Given the description of an element on the screen output the (x, y) to click on. 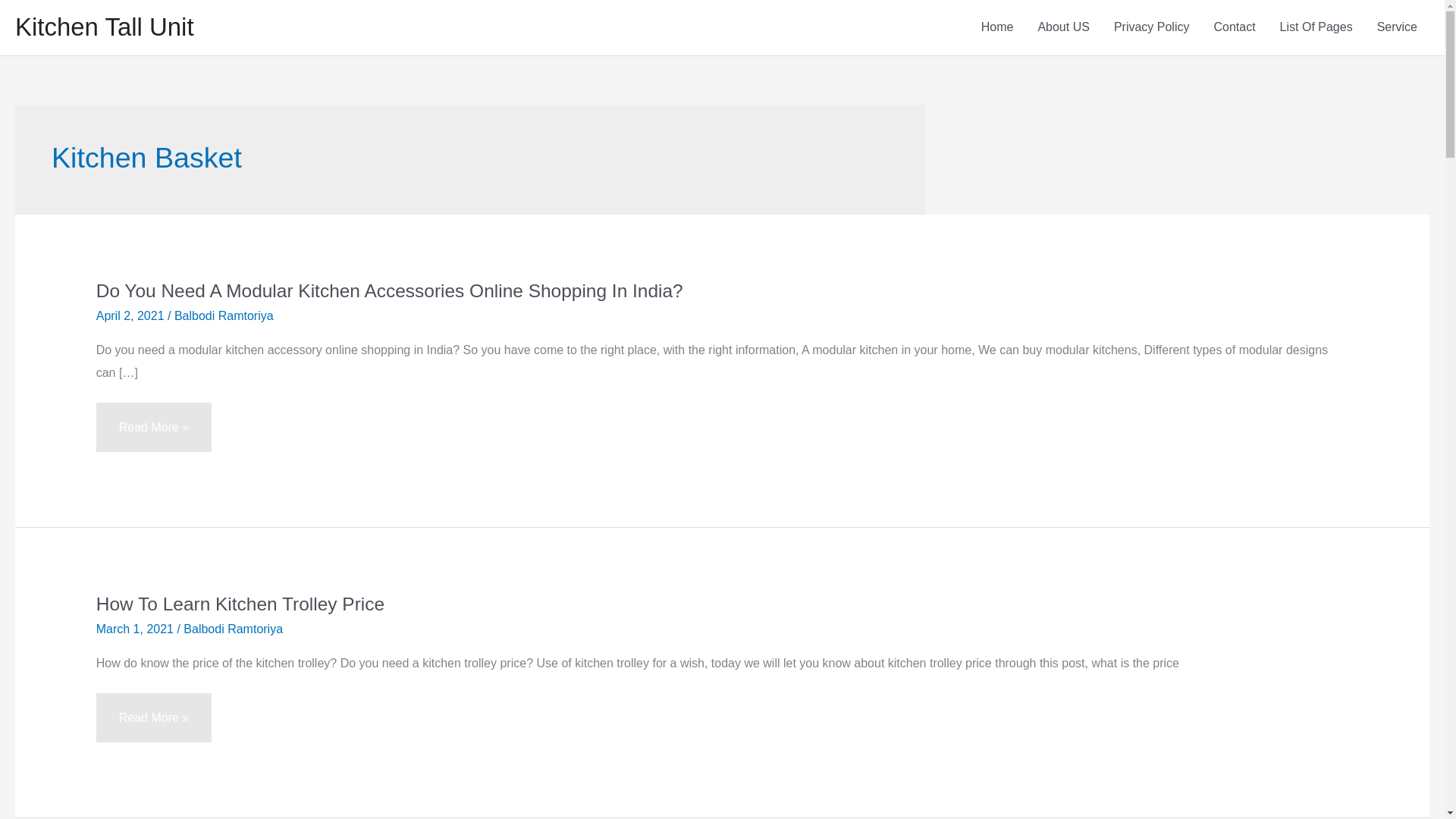
Contact (1233, 27)
View all posts by Balbodi Ramtoriya (223, 315)
Home (997, 27)
Balbodi Ramtoriya (232, 628)
View all posts by Balbodi Ramtoriya (232, 628)
List Of Pages (1316, 27)
Balbodi Ramtoriya (223, 315)
Service (1397, 27)
Kitchen Tall Unit (103, 26)
About US (1062, 27)
Privacy Policy (1152, 27)
How To Learn Kitchen Trolley Price (240, 603)
